Given the description of an element on the screen output the (x, y) to click on. 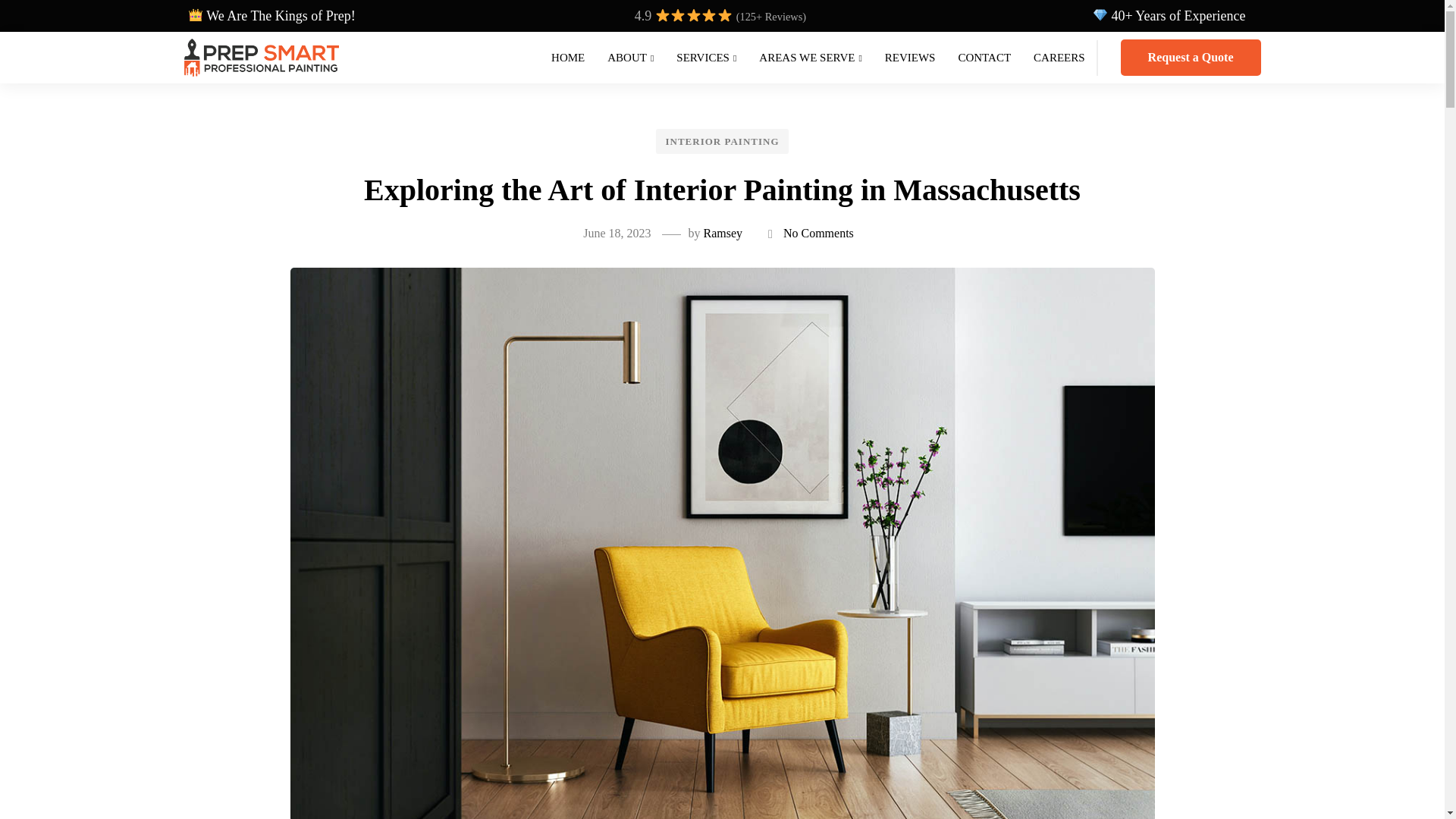
ABOUT (630, 58)
REVIEWS (910, 58)
SERVICES (706, 58)
CONTACT (984, 58)
HOME (567, 58)
AREAS WE SERVE (810, 58)
